Given the description of an element on the screen output the (x, y) to click on. 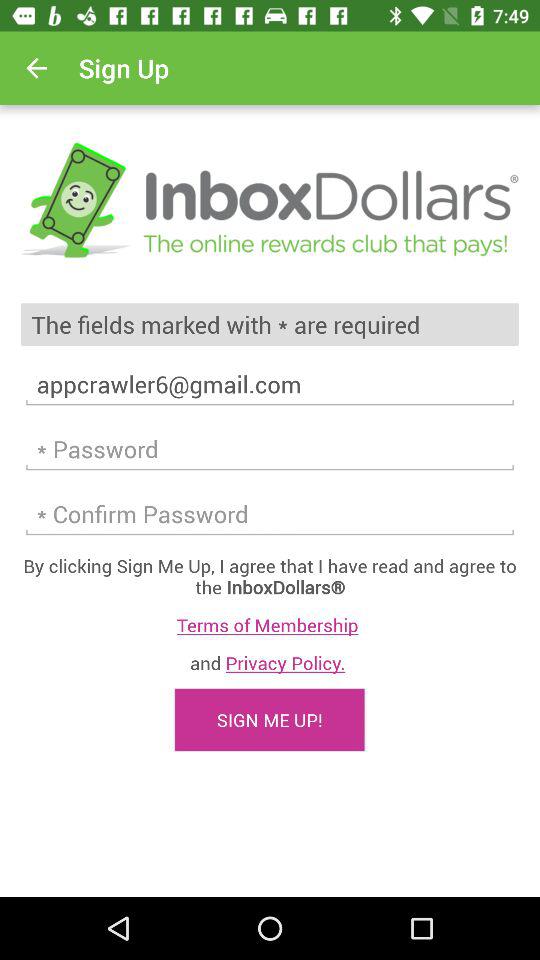
open the and privacy policy.  icon (270, 662)
